Given the description of an element on the screen output the (x, y) to click on. 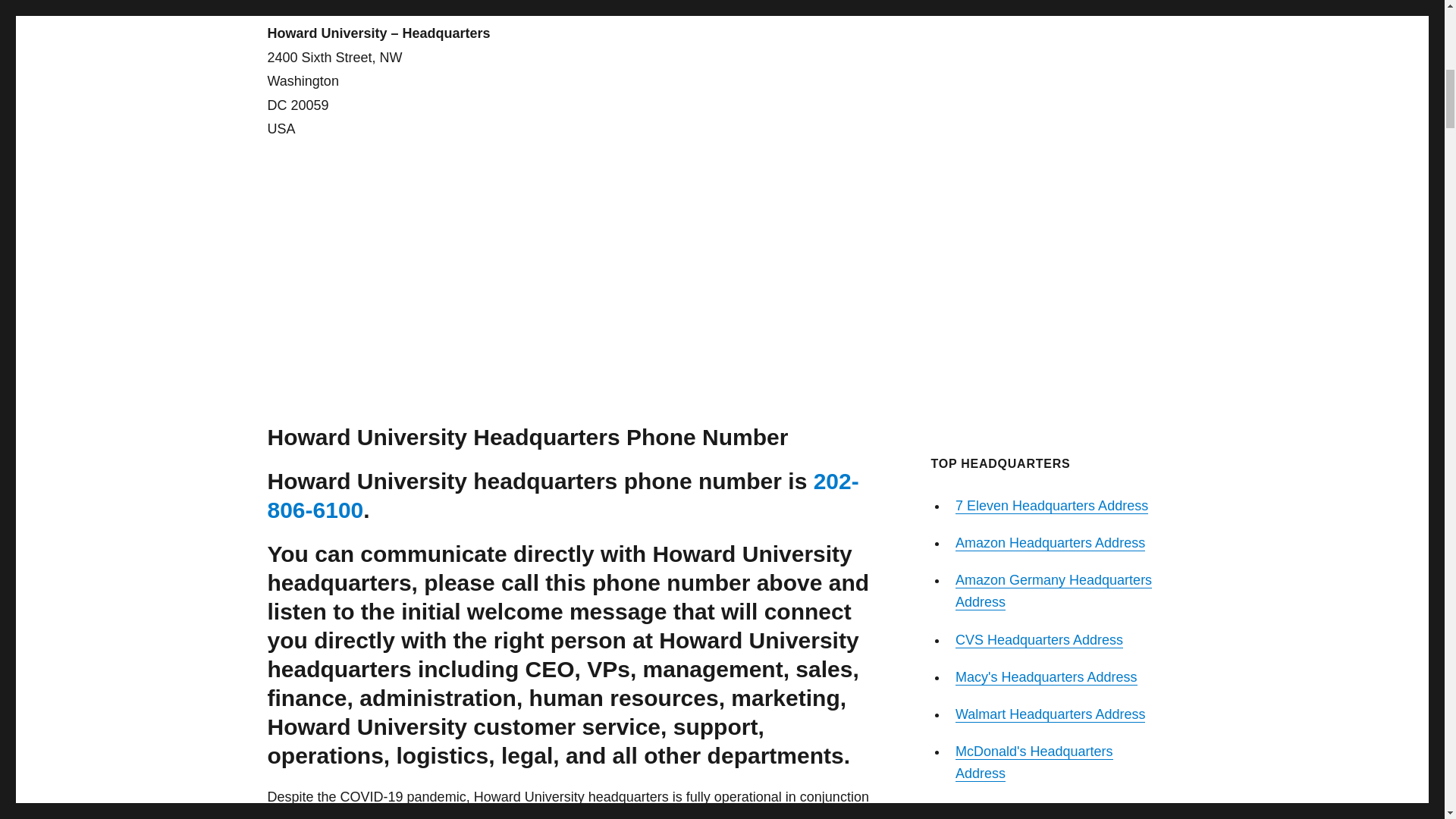
CVS Headquarters Address (1038, 639)
Walmart Headquarters Address (1049, 713)
202-806-6100 (562, 495)
McDonald's Headquarters Address (1034, 762)
Amazon Headquarters Address (1049, 542)
Target Headquarters Address (1043, 810)
Macy's Headquarters Address (1046, 676)
7 Eleven Headquarters Address (1051, 505)
Amazon Germany Headquarters Address (1053, 590)
